Given the description of an element on the screen output the (x, y) to click on. 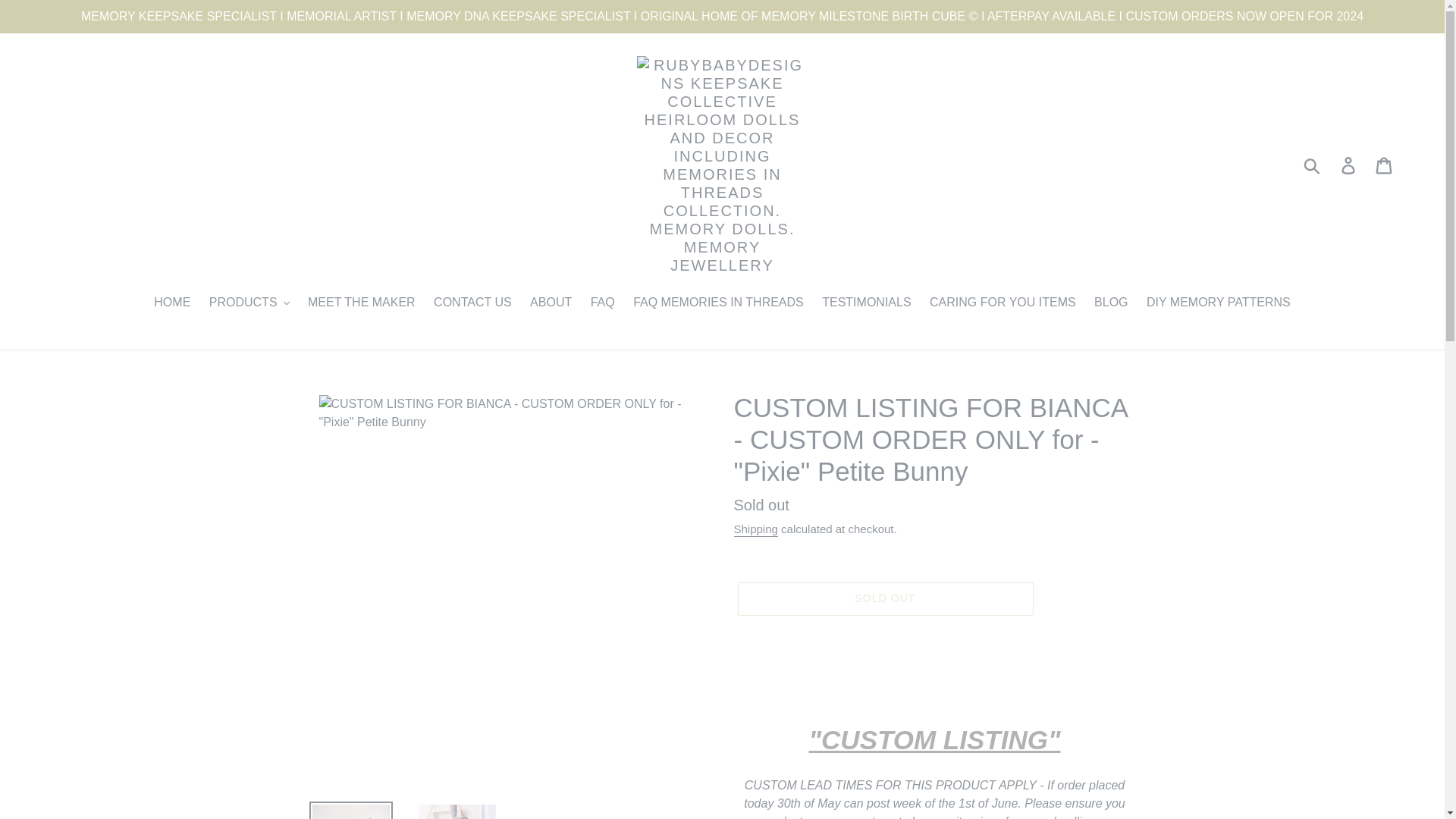
Log in (1349, 164)
Cart (1385, 164)
Submit (1313, 164)
